Given the description of an element on the screen output the (x, y) to click on. 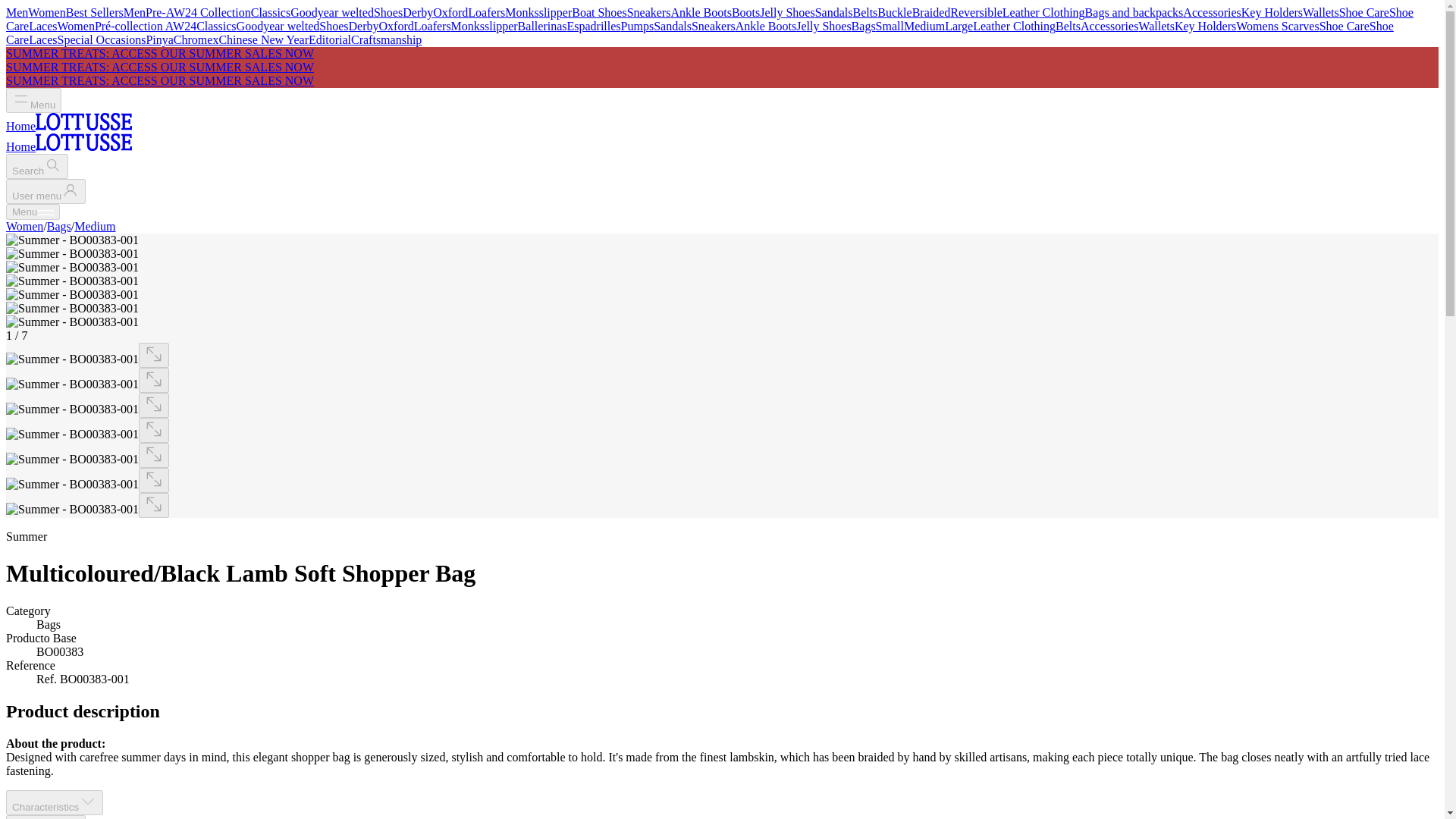
Loafers (432, 25)
Oxford (449, 11)
Shoes (388, 11)
Best Sellers (94, 11)
Derby (363, 25)
Laces (42, 25)
Shoes (332, 25)
Goodyear welted (277, 25)
Women (76, 25)
Women (46, 11)
Reversible (975, 11)
Monks (467, 25)
Shoe Care (709, 18)
Derby (417, 11)
Key Holders (1272, 11)
